Given the description of an element on the screen output the (x, y) to click on. 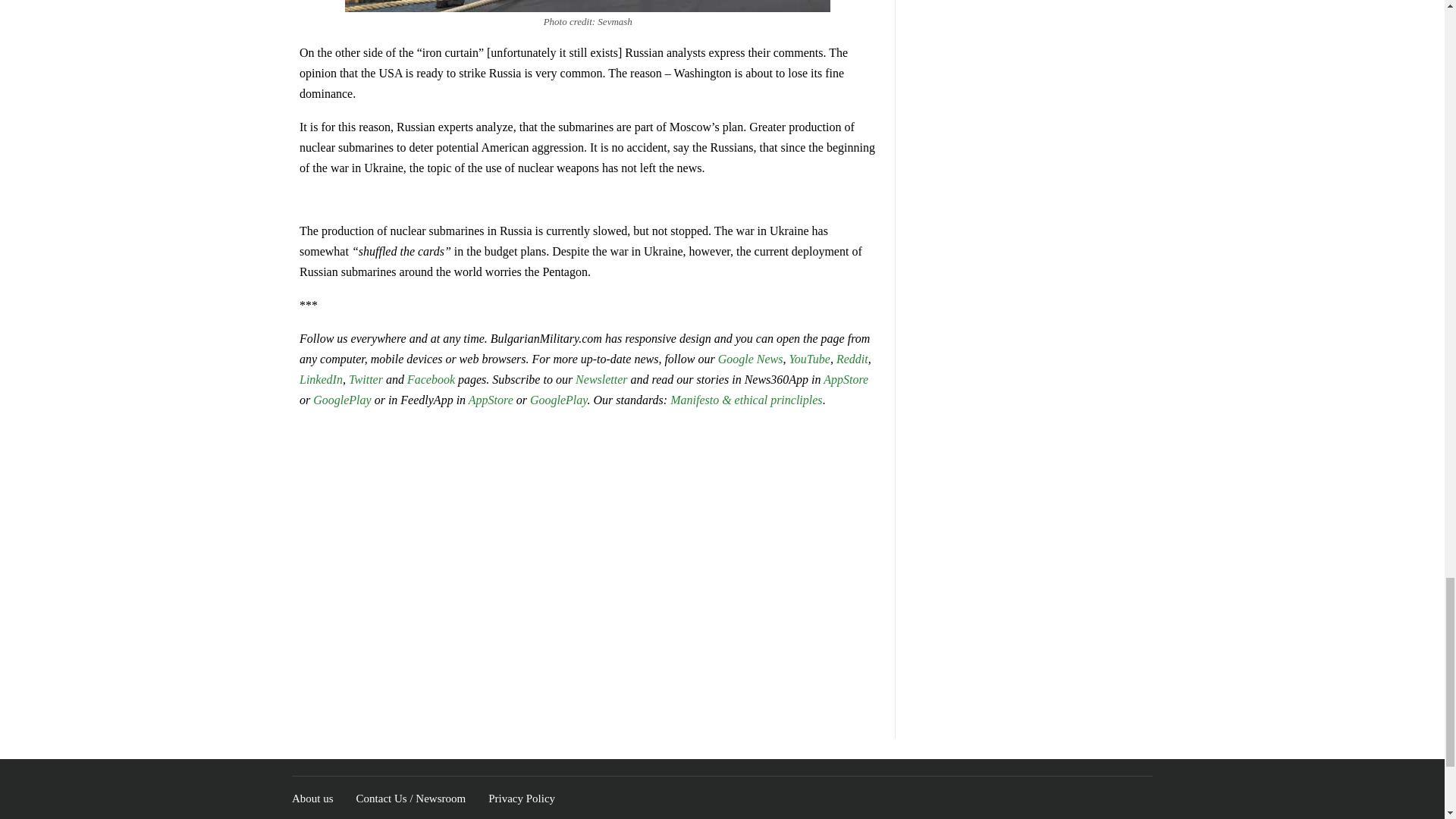
Facebook (430, 379)
Google News (750, 358)
LinkedIn (320, 379)
GooglePlay (342, 399)
Newsletter (601, 379)
Reddit (851, 358)
AppStore (490, 399)
Twitter (367, 379)
YouTube (809, 358)
